Given the description of an element on the screen output the (x, y) to click on. 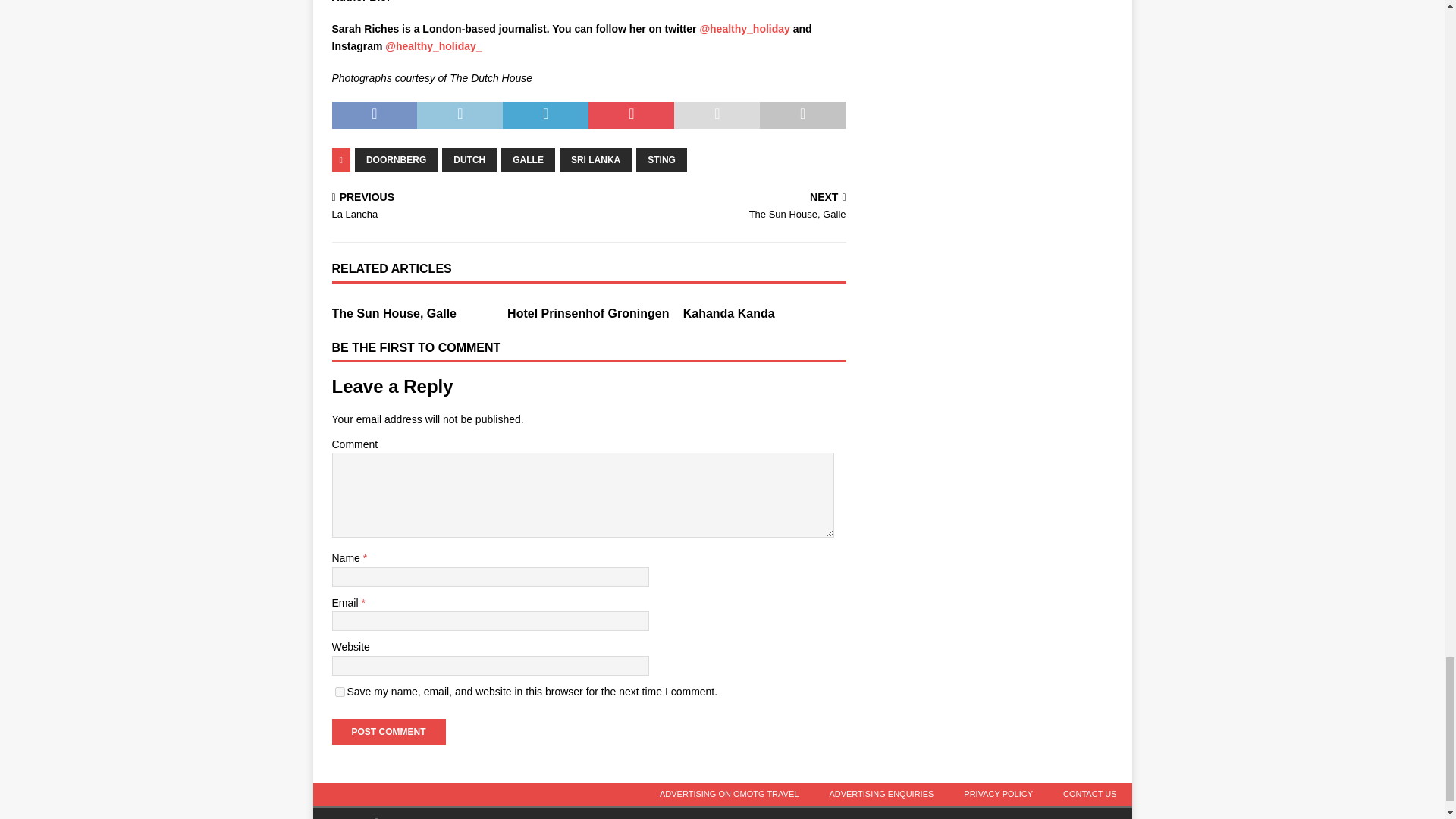
The Sun House, Galle (394, 313)
yes (339, 691)
Post Comment (388, 731)
